Given the description of an element on the screen output the (x, y) to click on. 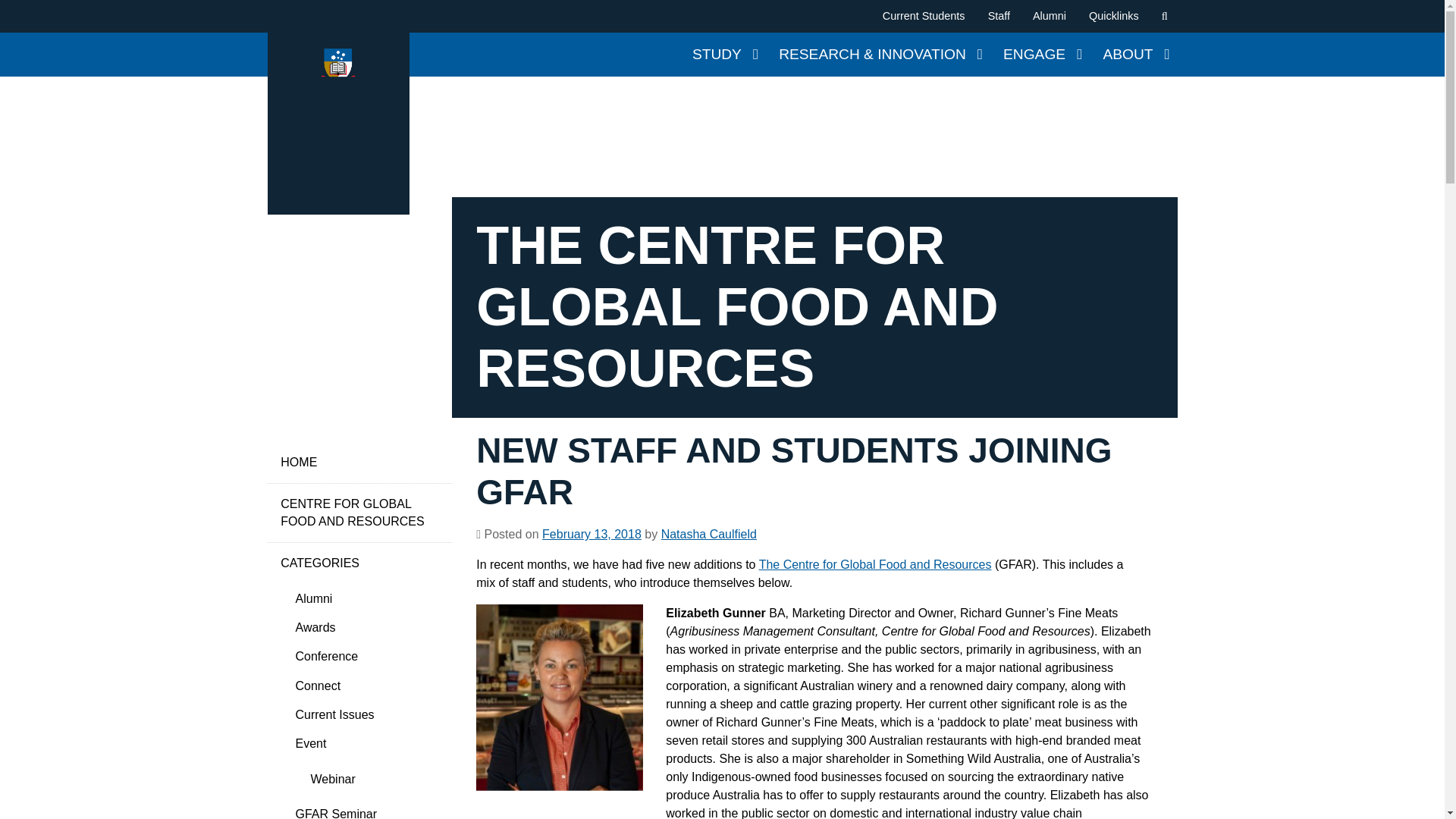
Staff (999, 16)
View all posts by Natasha Caulfield (709, 533)
Webinar (372, 778)
HOME (358, 462)
4:17 pm (591, 533)
Conference (365, 656)
Current Issues (365, 715)
Connect (365, 685)
CATEGORIES (358, 562)
Alumni (365, 597)
STUDY (723, 54)
Current Students (923, 16)
ABOUT (1135, 54)
CENTRE FOR GLOBAL FOOD AND RESOURCES (358, 513)
GFAR Seminar (365, 809)
